Given the description of an element on the screen output the (x, y) to click on. 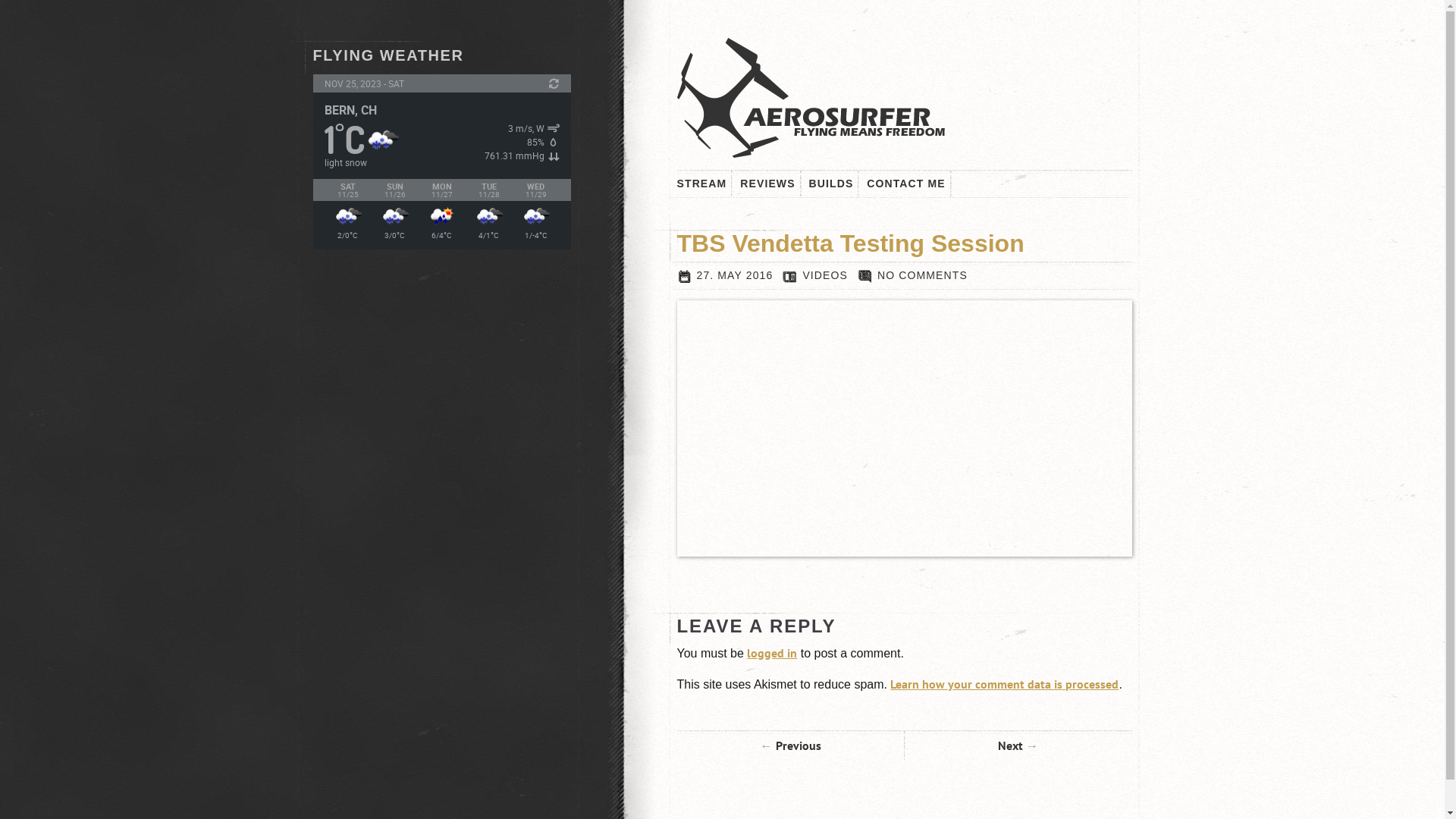
moderate rain Element type: hover (441, 215)
light snow Element type: hover (347, 215)
REVIEWS Element type: text (767, 183)
Previous Element type: text (789, 745)
Next Element type: text (1017, 745)
light snow Element type: hover (381, 139)
VIDEOS Element type: text (824, 275)
logged in Element type: text (771, 652)
light snow Element type: hover (535, 215)
BUILDS Element type: text (831, 183)
STREAM Element type: text (701, 183)
Learn how your comment data is processed Element type: text (1004, 683)
rain and snow Element type: hover (488, 215)
light snow Element type: hover (394, 215)
NO COMMENTS Element type: text (912, 275)
CONTACT ME Element type: text (905, 183)
